Given the description of an element on the screen output the (x, y) to click on. 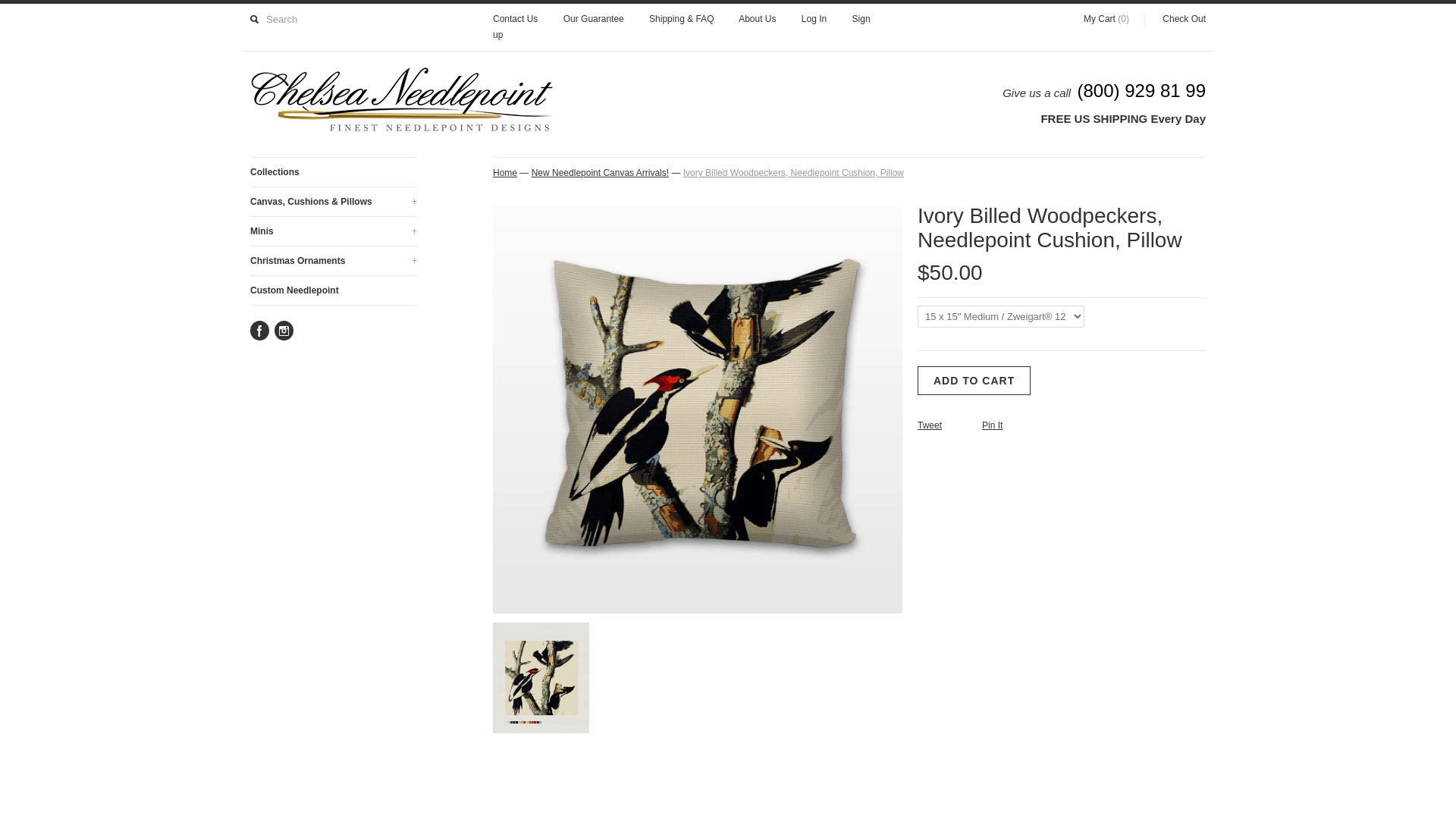
Check Out (1176, 19)
Log In (814, 19)
About Us (757, 19)
Sign up (681, 26)
Add To Cart (973, 380)
Our Guarantee (593, 19)
Contact Us (515, 19)
Collections (333, 172)
